Given the description of an element on the screen output the (x, y) to click on. 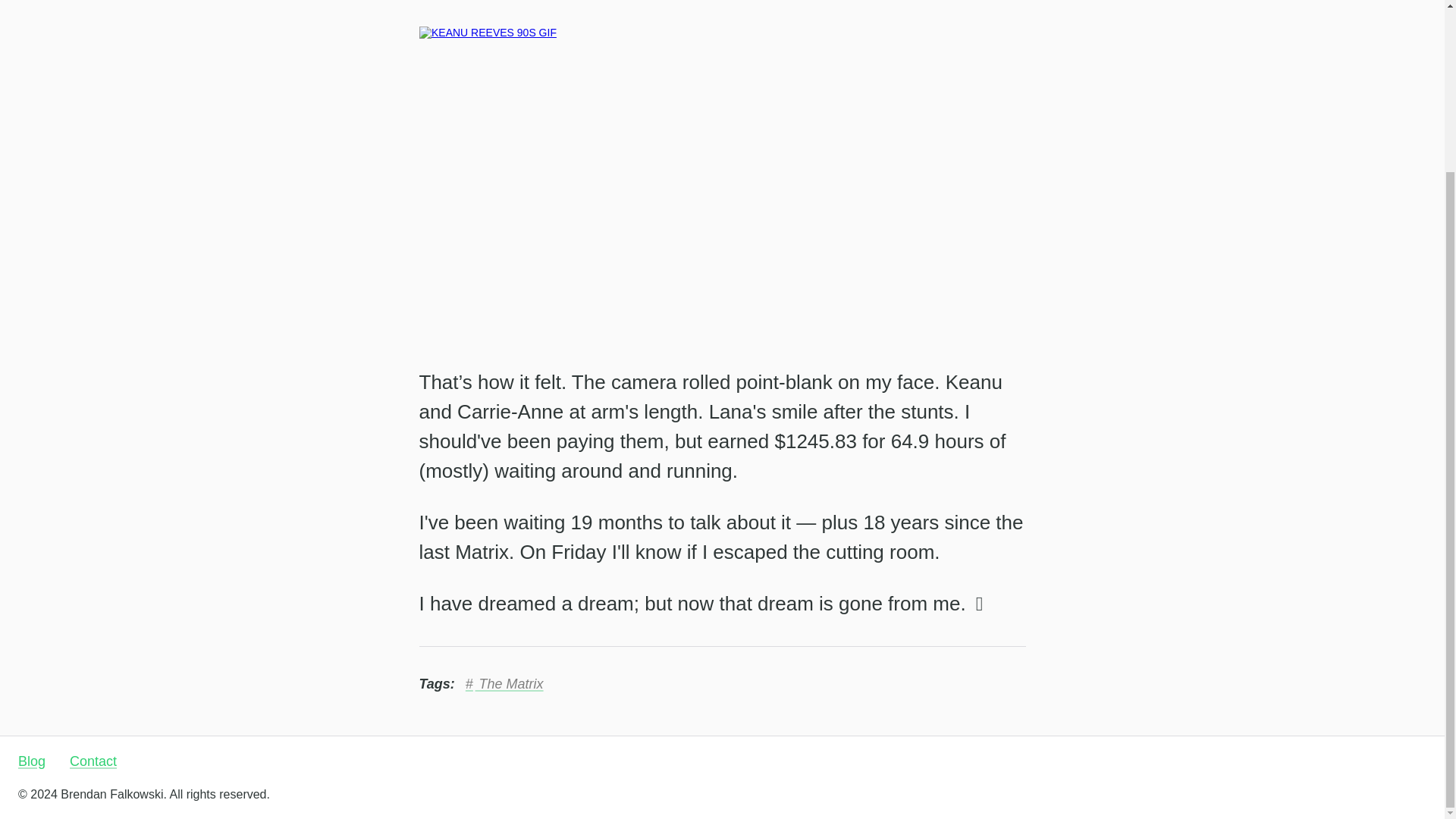
The Matrix (504, 683)
Blog (31, 761)
Contact (92, 761)
